Given the description of an element on the screen output the (x, y) to click on. 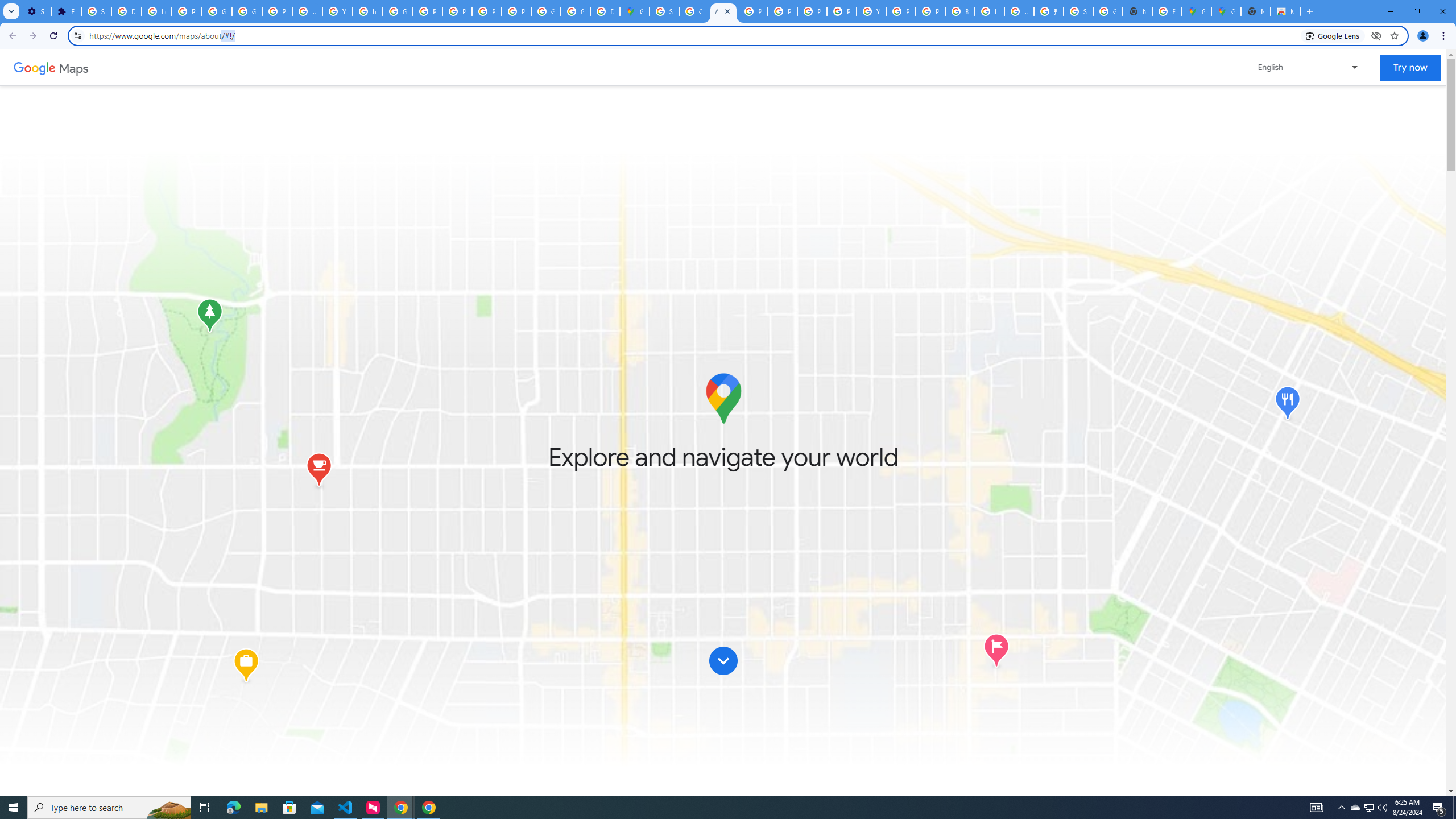
Explore new street-level details - Google Maps Help (1166, 11)
Privacy Help Center - Policies Help (811, 11)
Settings - On startup (36, 11)
YouTube (871, 11)
Sign in - Google Accounts (664, 11)
